Given the description of an element on the screen output the (x, y) to click on. 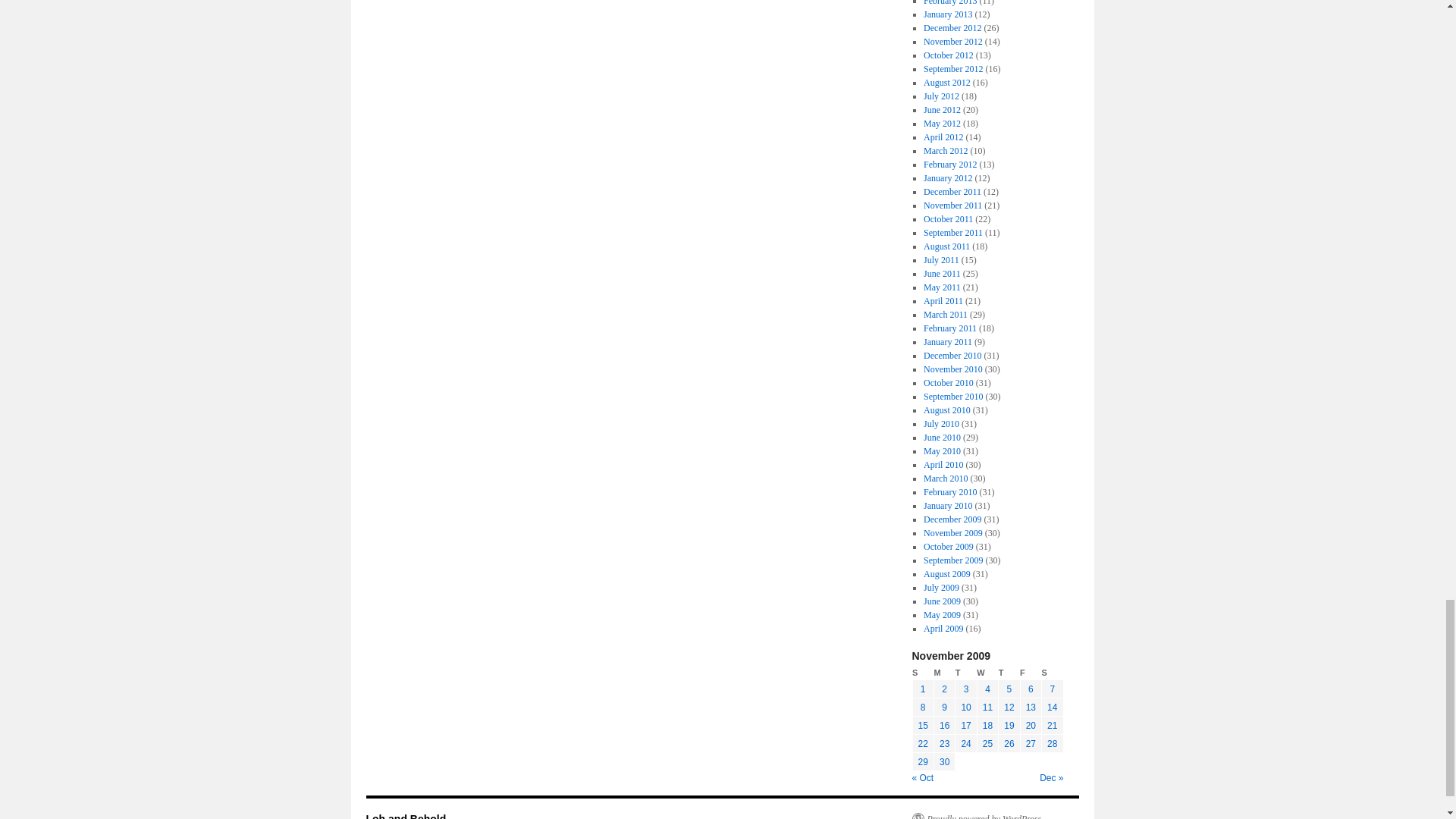
Tuesday (965, 672)
Friday (1030, 672)
Semantic Personal Publishing Platform (977, 816)
Monday (944, 672)
Sunday (922, 672)
Thursday (1009, 672)
Saturday (1052, 672)
Wednesday (986, 672)
